Given the description of an element on the screen output the (x, y) to click on. 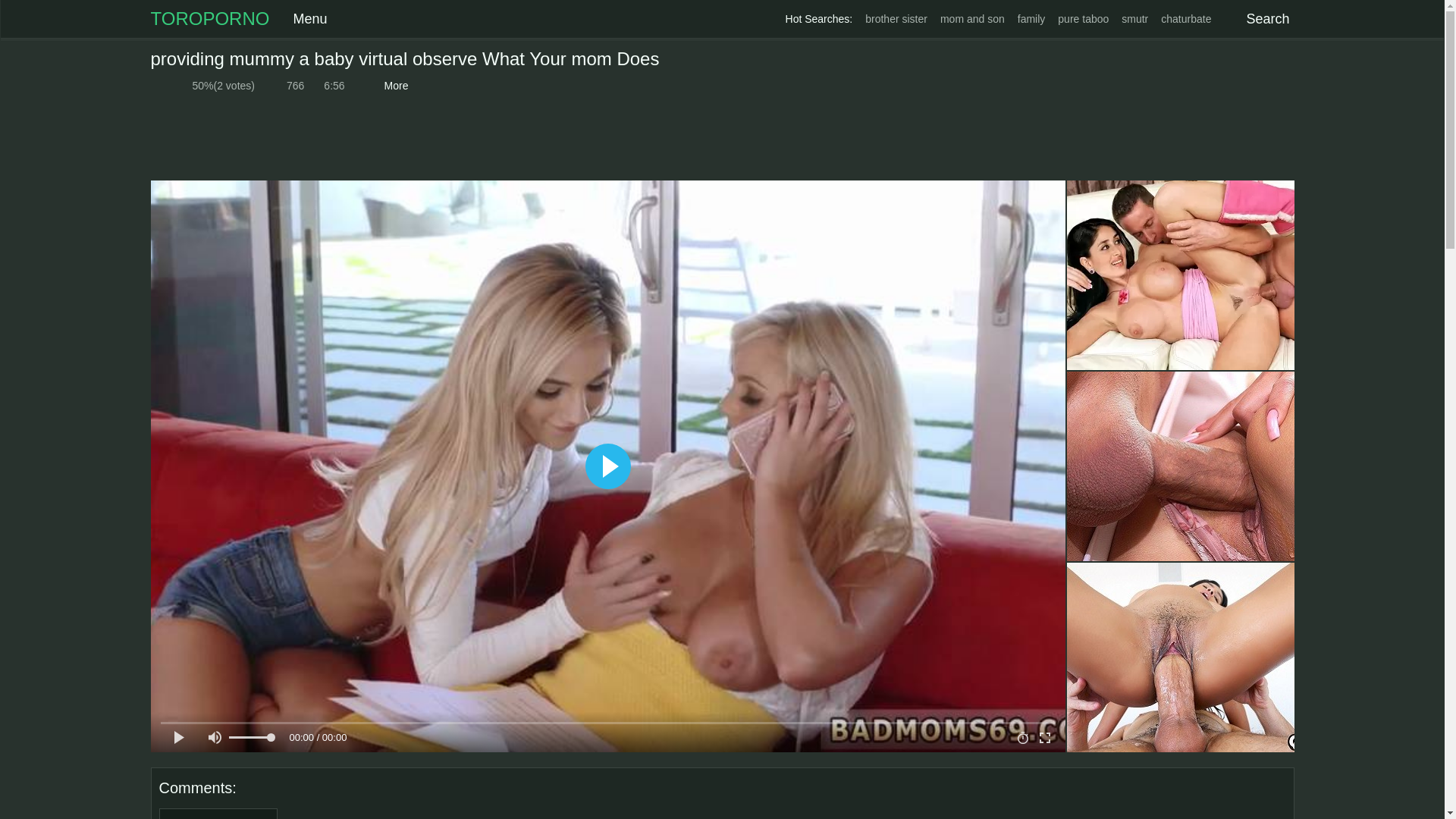
Show More (393, 85)
pure taboo (1083, 19)
chaturbate (1185, 19)
TOROPORNO (209, 18)
brother sister (896, 19)
family (1031, 19)
mom and son (972, 19)
smutr (1134, 19)
